Given the description of an element on the screen output the (x, y) to click on. 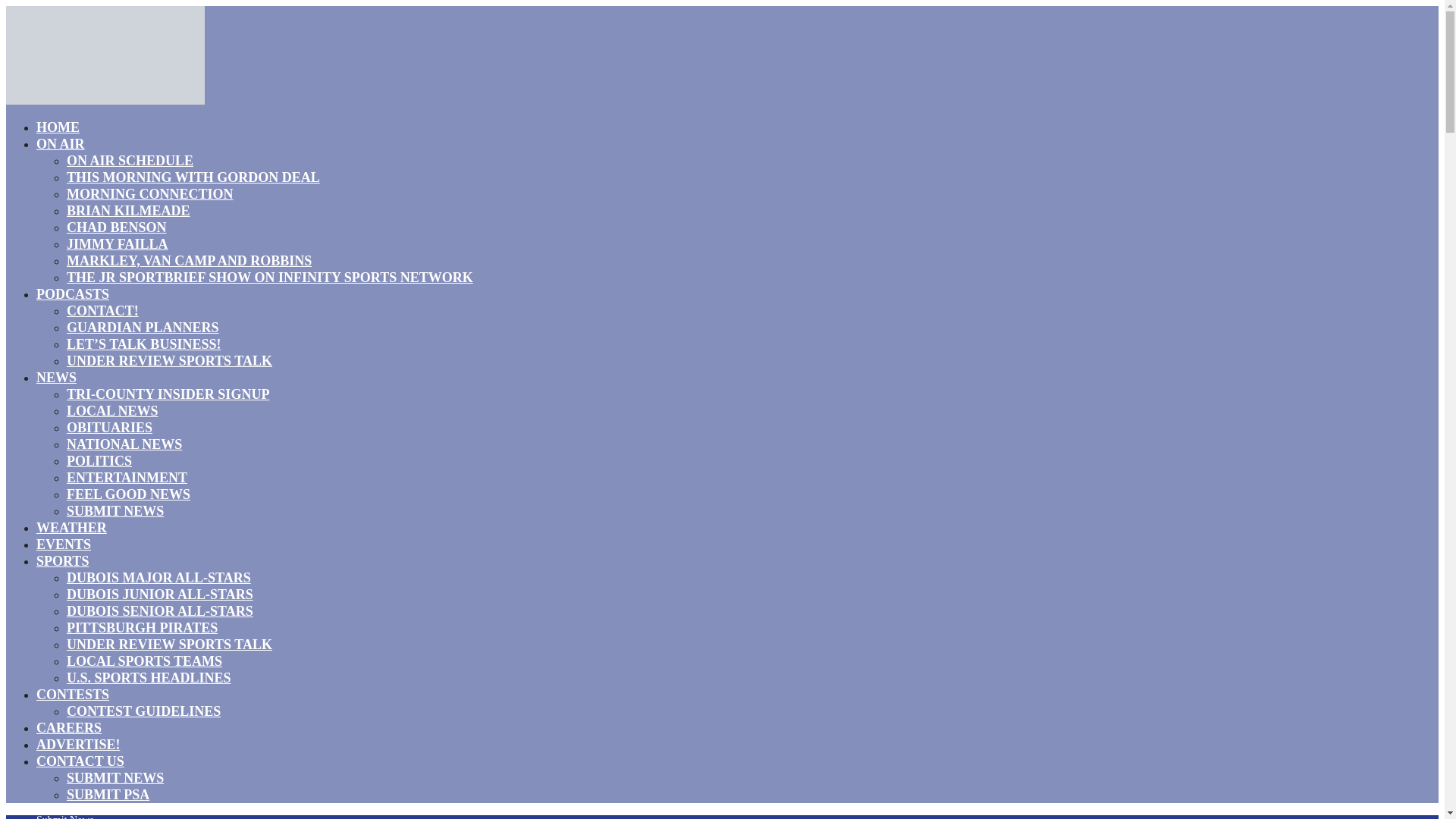
HOME (58, 127)
NEWS (56, 377)
SPORTS (62, 560)
UNDER REVIEW SPORTS TALK (169, 360)
THE JR SPORTBRIEF SHOW ON INFINITY SPORTS NETWORK (269, 277)
EVENTS (63, 544)
OBITUARIES (109, 427)
LOCAL SPORTS TEAMS (144, 660)
FEEL GOOD NEWS (128, 494)
CAREERS (68, 727)
POLITICS (99, 460)
DUBOIS MAJOR ALL-STARS (158, 577)
ON AIR SCHEDULE (129, 160)
DUBOIS JUNIOR ALL-STARS (159, 594)
NATIONAL NEWS (124, 444)
